Given the description of an element on the screen output the (x, y) to click on. 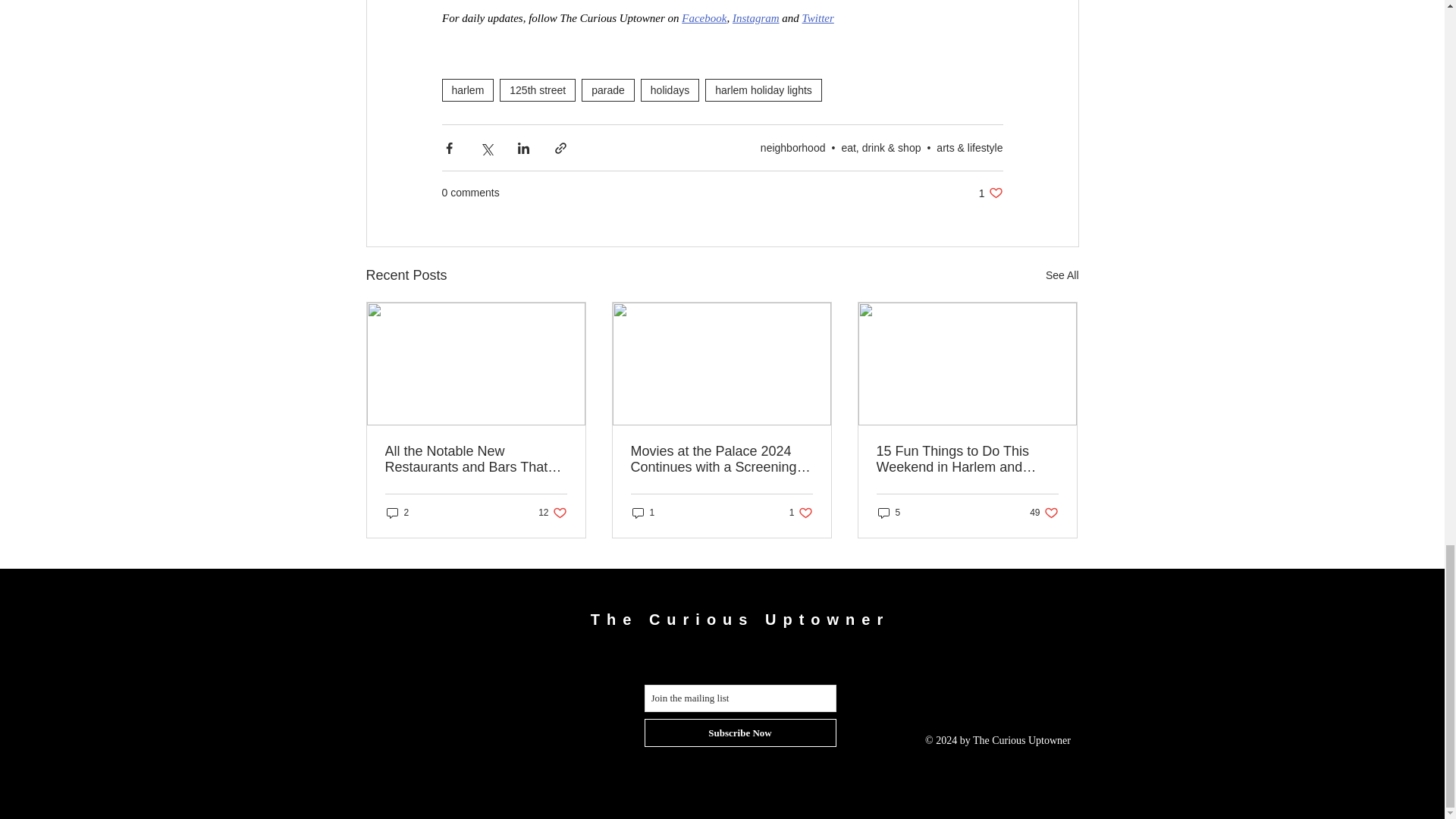
See All (1061, 275)
2 (397, 513)
15 Fun Things to Do This Weekend in Harlem and Beyond (967, 459)
harlem holiday lights (763, 89)
parade (990, 192)
Twitter (607, 89)
5 (817, 18)
